Given the description of an element on the screen output the (x, y) to click on. 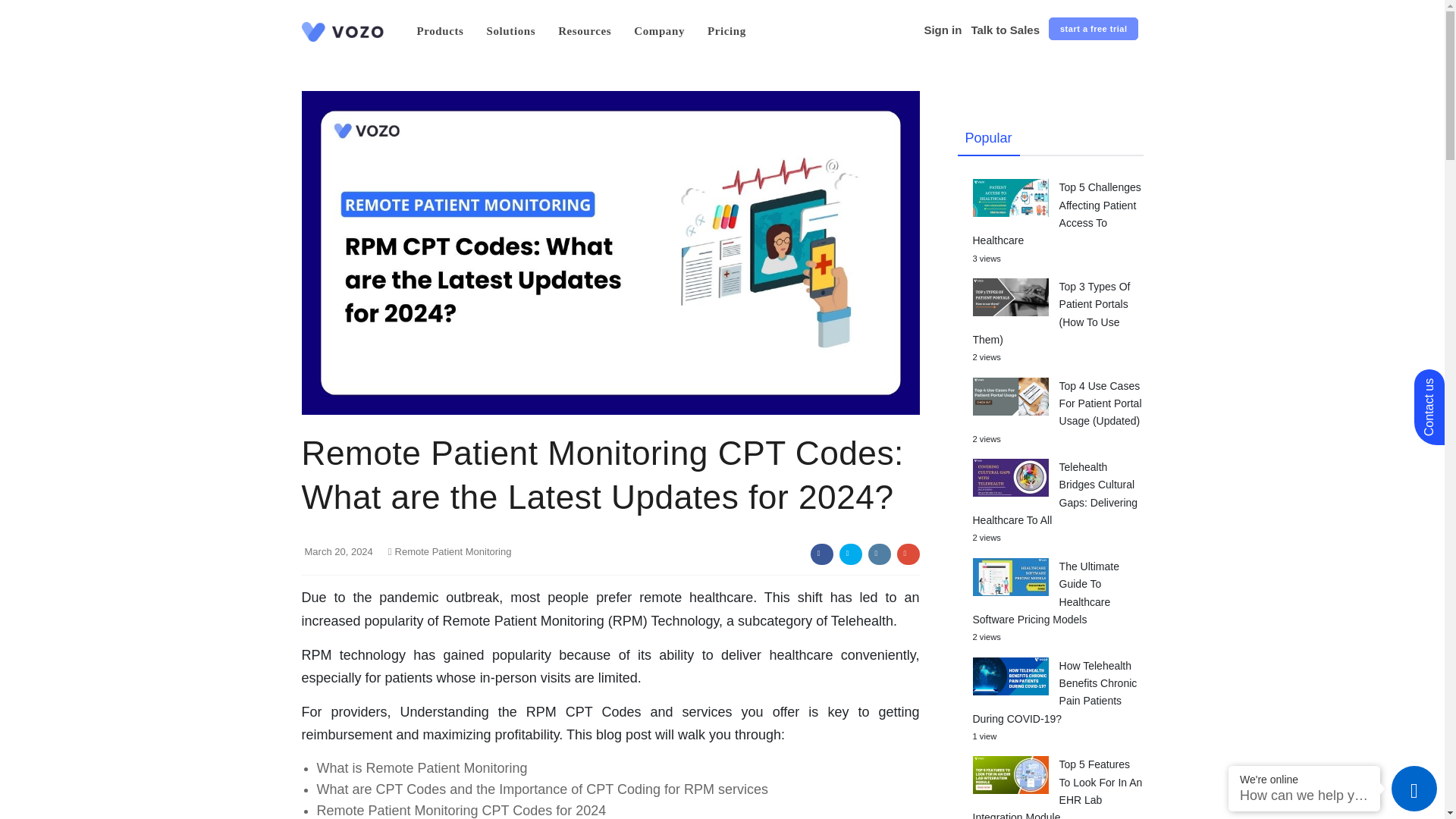
start a free trial (1093, 28)
Solutions (510, 31)
Resources (584, 31)
How can we help you? (1304, 795)
start a free trial (1092, 30)
Talk to Sales (1004, 30)
Products (440, 31)
We're online (1304, 779)
Company (659, 31)
Pricing (726, 31)
